Given the description of an element on the screen output the (x, y) to click on. 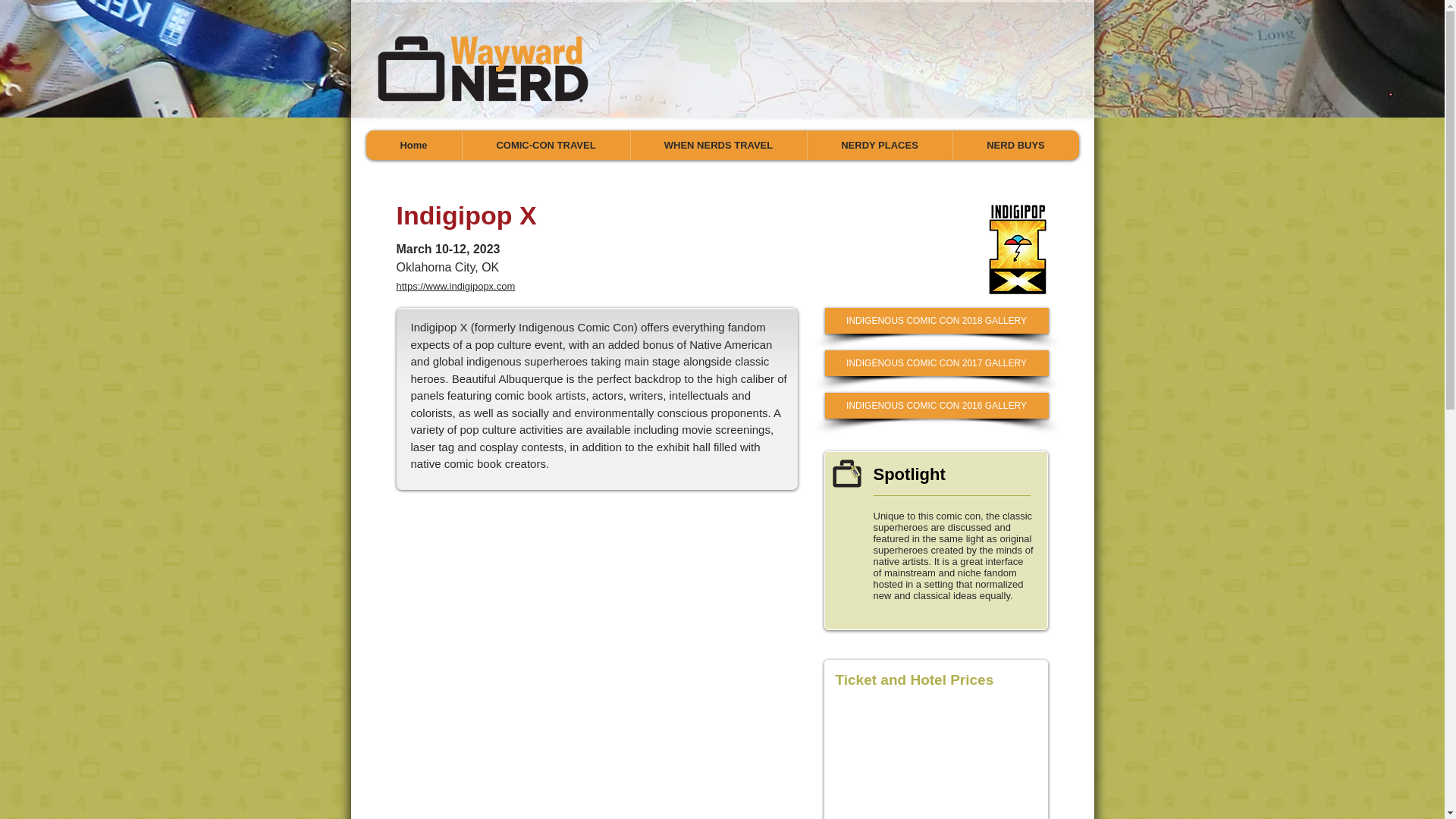
NERD BUYS (1015, 144)
NERDY PLACES (879, 144)
COMIC-CON TRAVEL (544, 144)
Home (413, 144)
WHEN NERDS TRAVEL (717, 144)
